Given the description of an element on the screen output the (x, y) to click on. 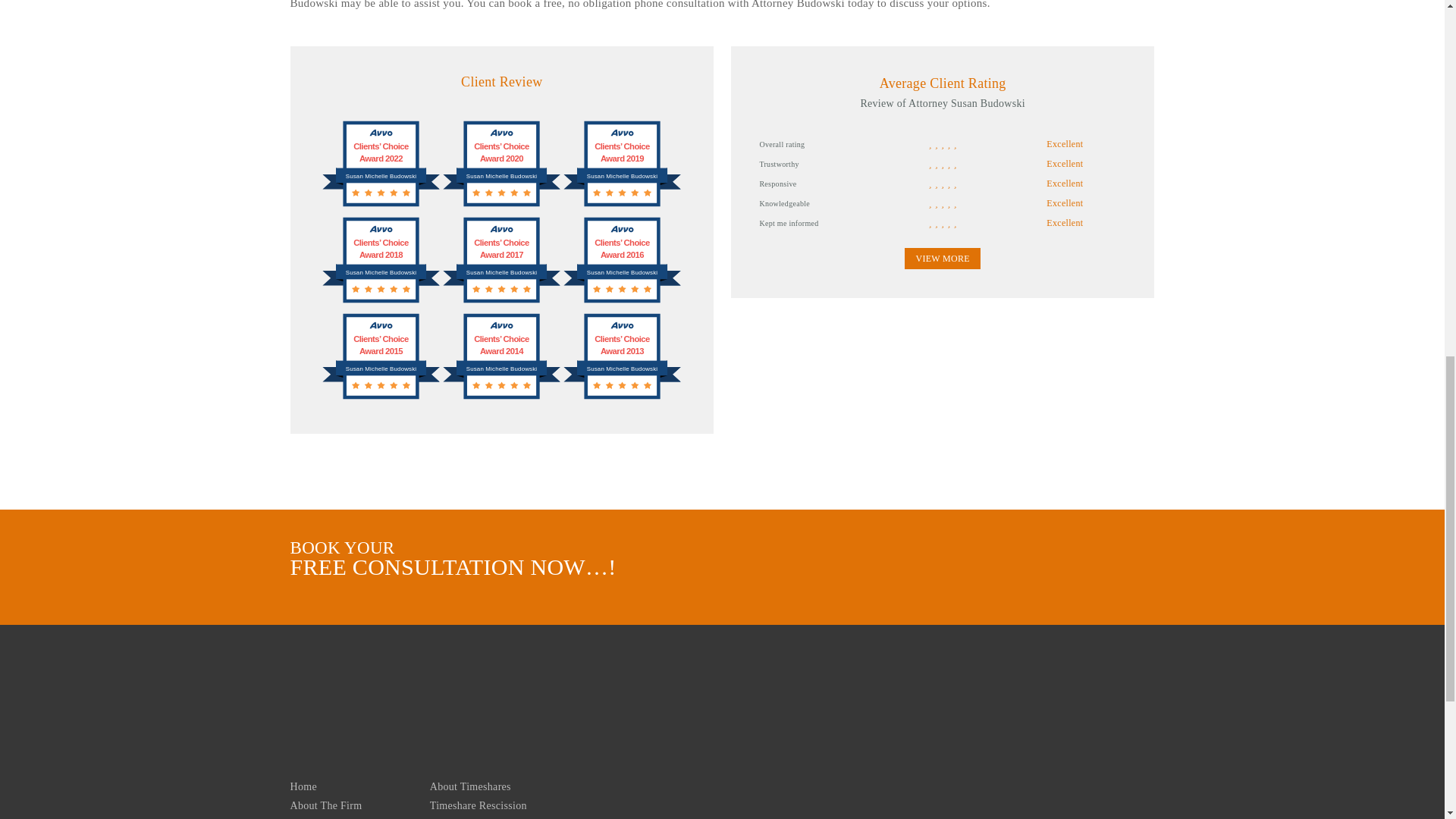
About Timeshares (470, 786)
Boobk Now Susan M Budowski, LLC (1040, 580)
Timeshare Rescission (478, 805)
VIEW MORE (941, 258)
Home (302, 786)
About The Firm (325, 805)
Susan Budowski (933, 746)
